Given the description of an element on the screen output the (x, y) to click on. 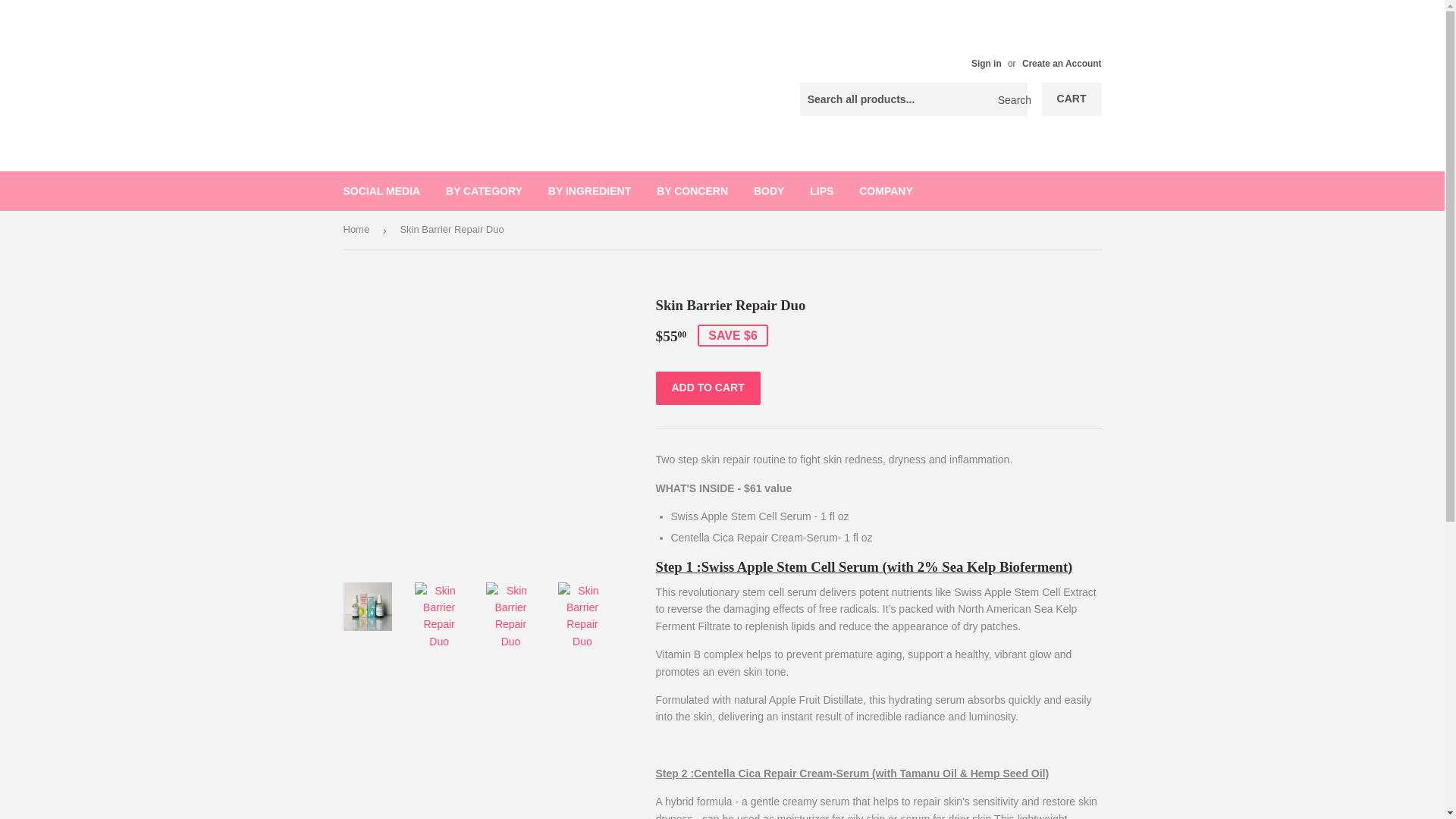
CART (1072, 99)
Create an Account (1062, 63)
Sign in (986, 63)
Search (1009, 100)
